Given the description of an element on the screen output the (x, y) to click on. 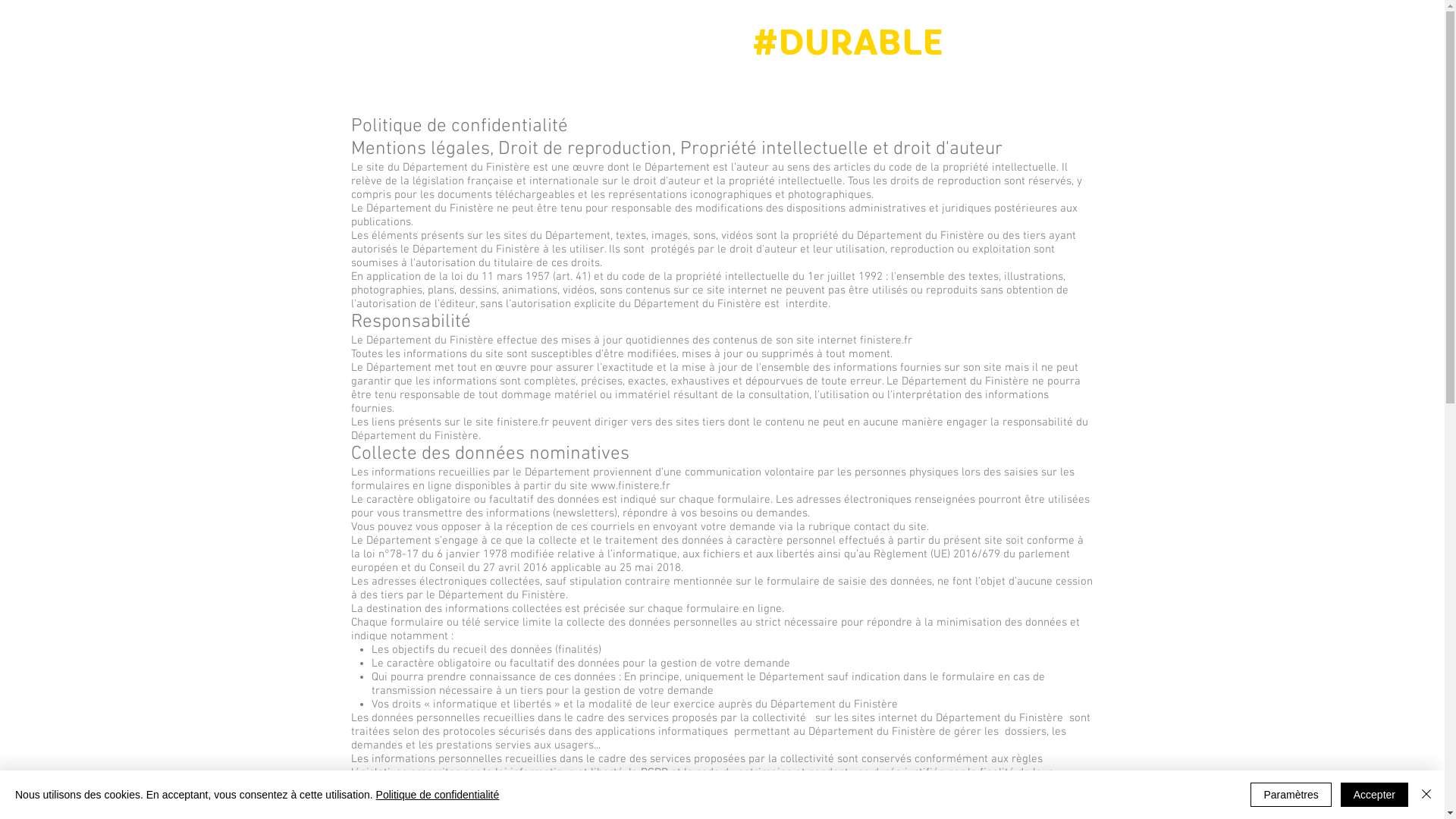
www.finistere.fr Element type: text (629, 485)
Accepter Element type: text (1374, 794)
